Given the description of an element on the screen output the (x, y) to click on. 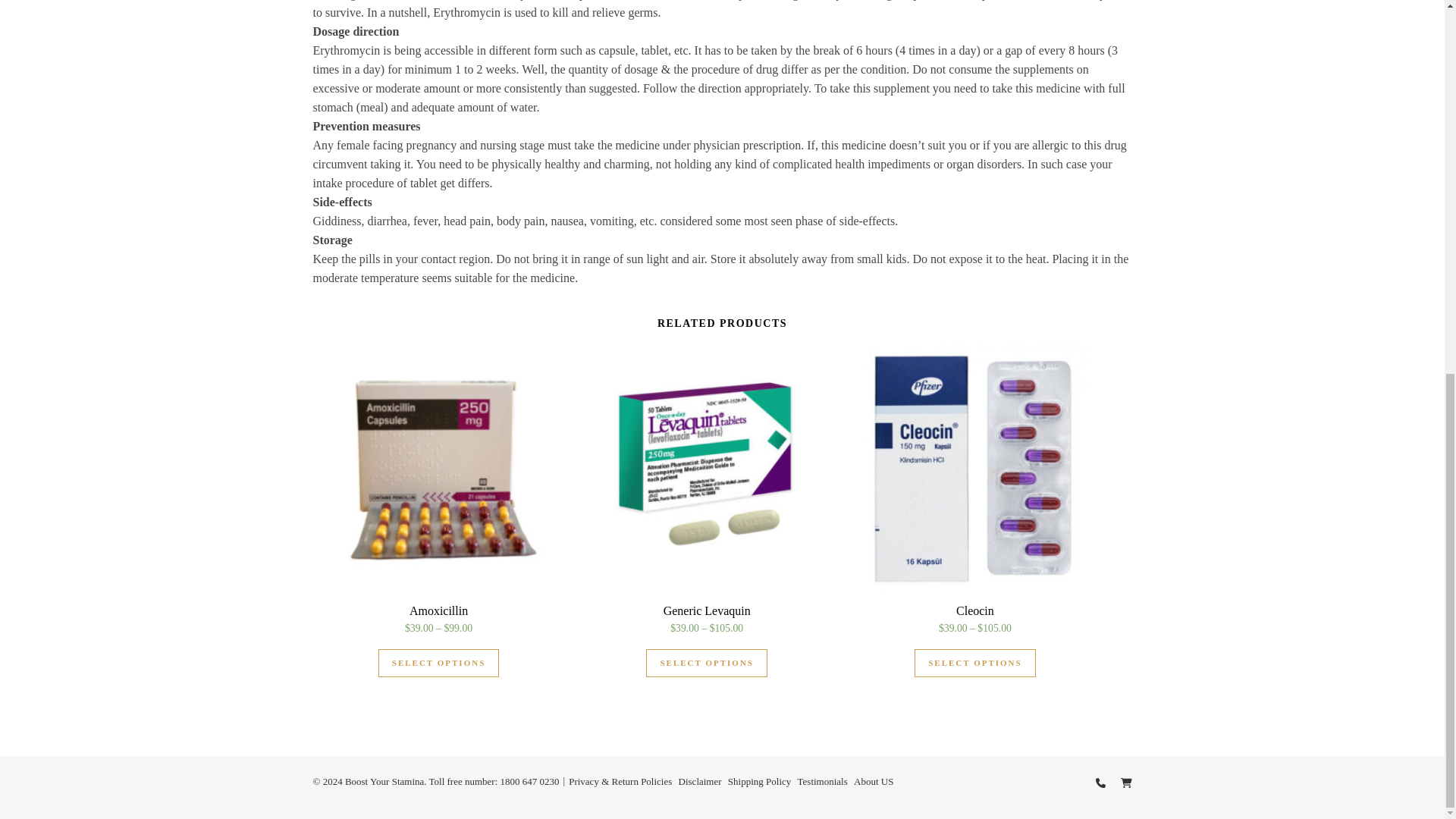
About US (873, 781)
SELECT OPTIONS (438, 663)
Testimonials (822, 781)
SELECT OPTIONS (706, 663)
SELECT OPTIONS (974, 663)
Disclaimer (700, 781)
Shipping Policy (759, 781)
